Given the description of an element on the screen output the (x, y) to click on. 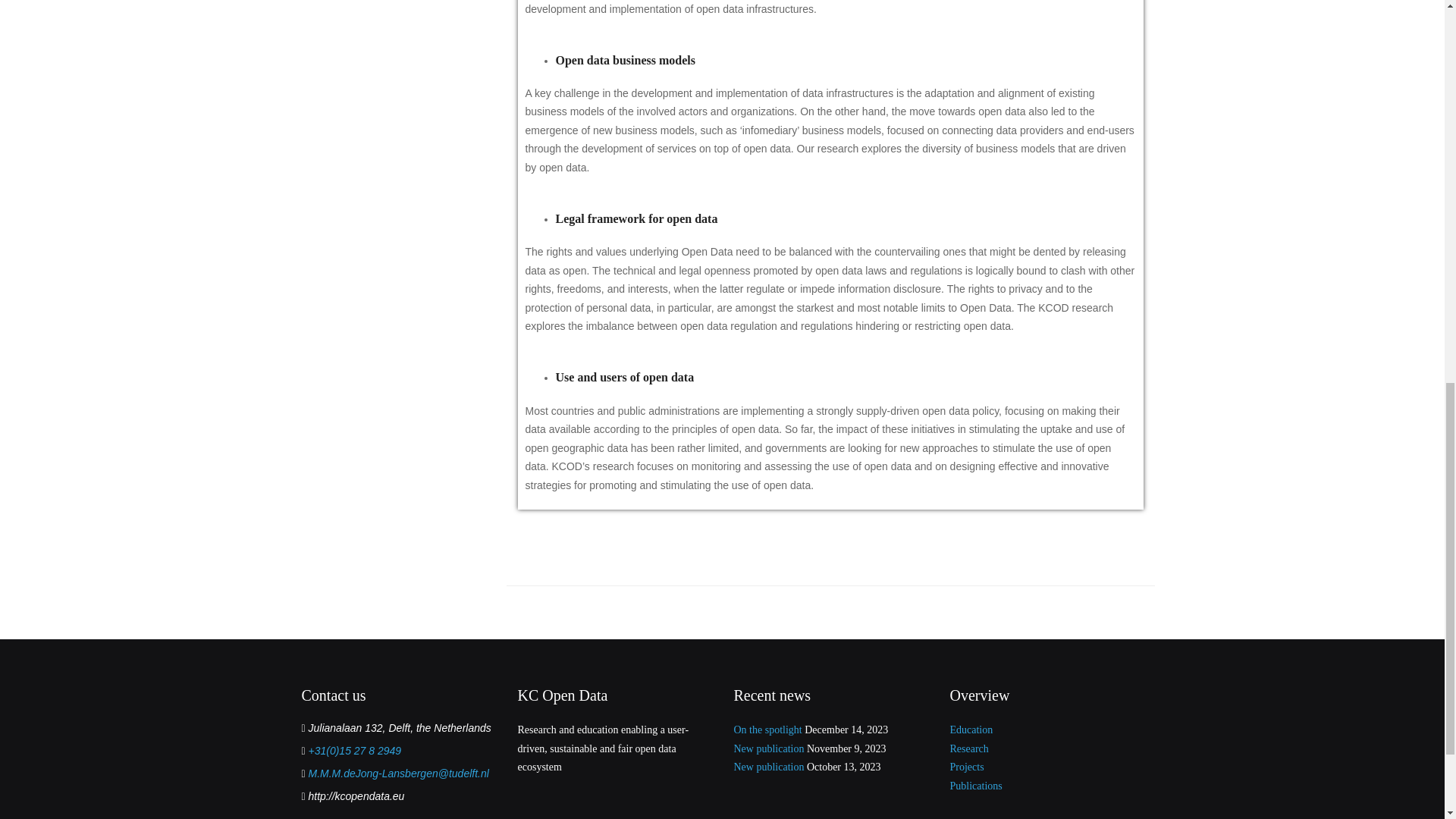
Projects (966, 767)
Publications (975, 785)
On the spotlight (767, 729)
New publication (769, 767)
New publication (769, 748)
Research (968, 748)
Education (970, 729)
